Given the description of an element on the screen output the (x, y) to click on. 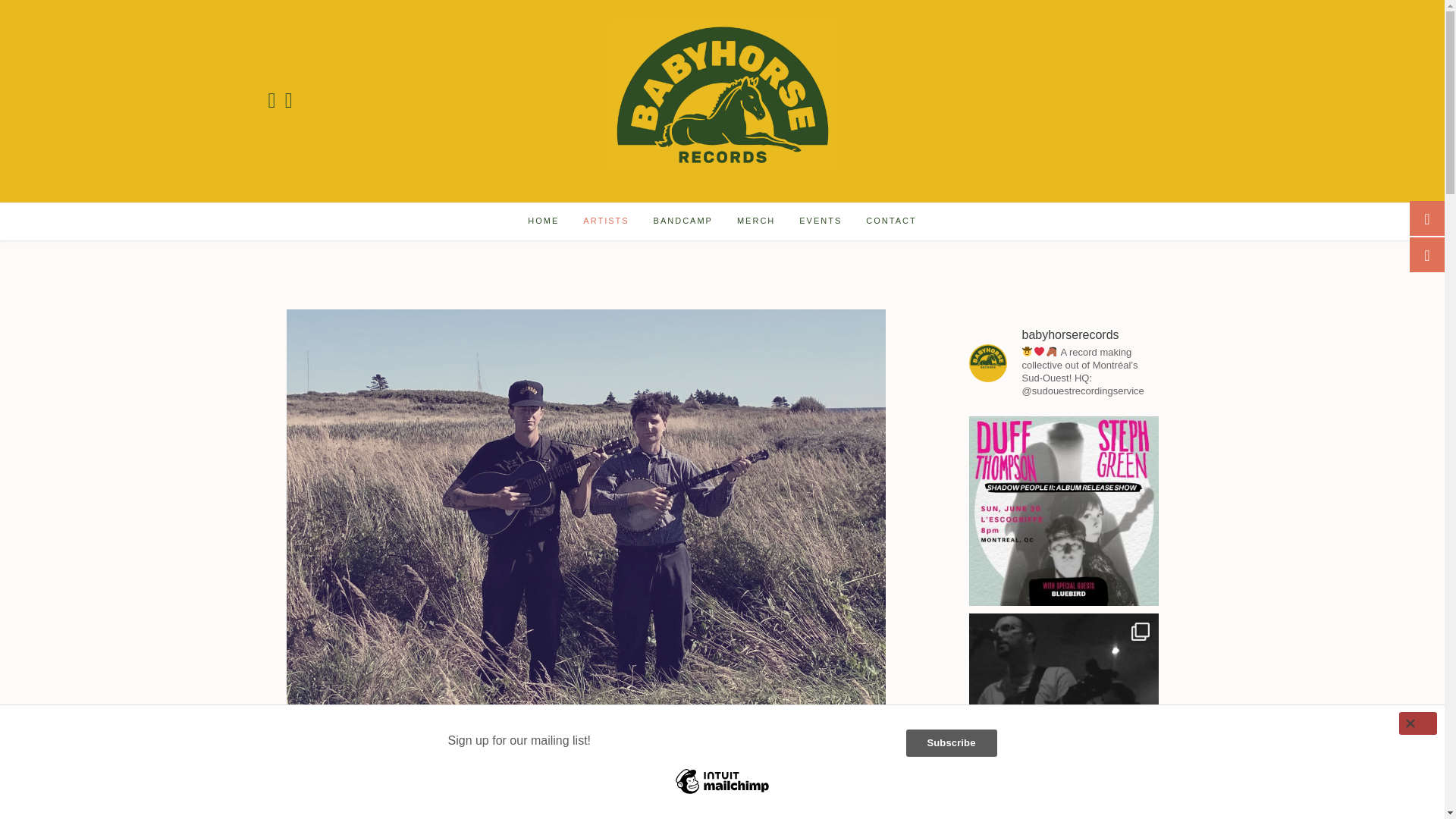
EVENTS (820, 221)
Load More (1063, 817)
Send Us an Email (289, 100)
ARTISTS (605, 221)
HOME (542, 221)
BANDCAMP (683, 221)
MERCH (756, 221)
Find Us on Facebook (272, 100)
CONTACT (890, 221)
